Given the description of an element on the screen output the (x, y) to click on. 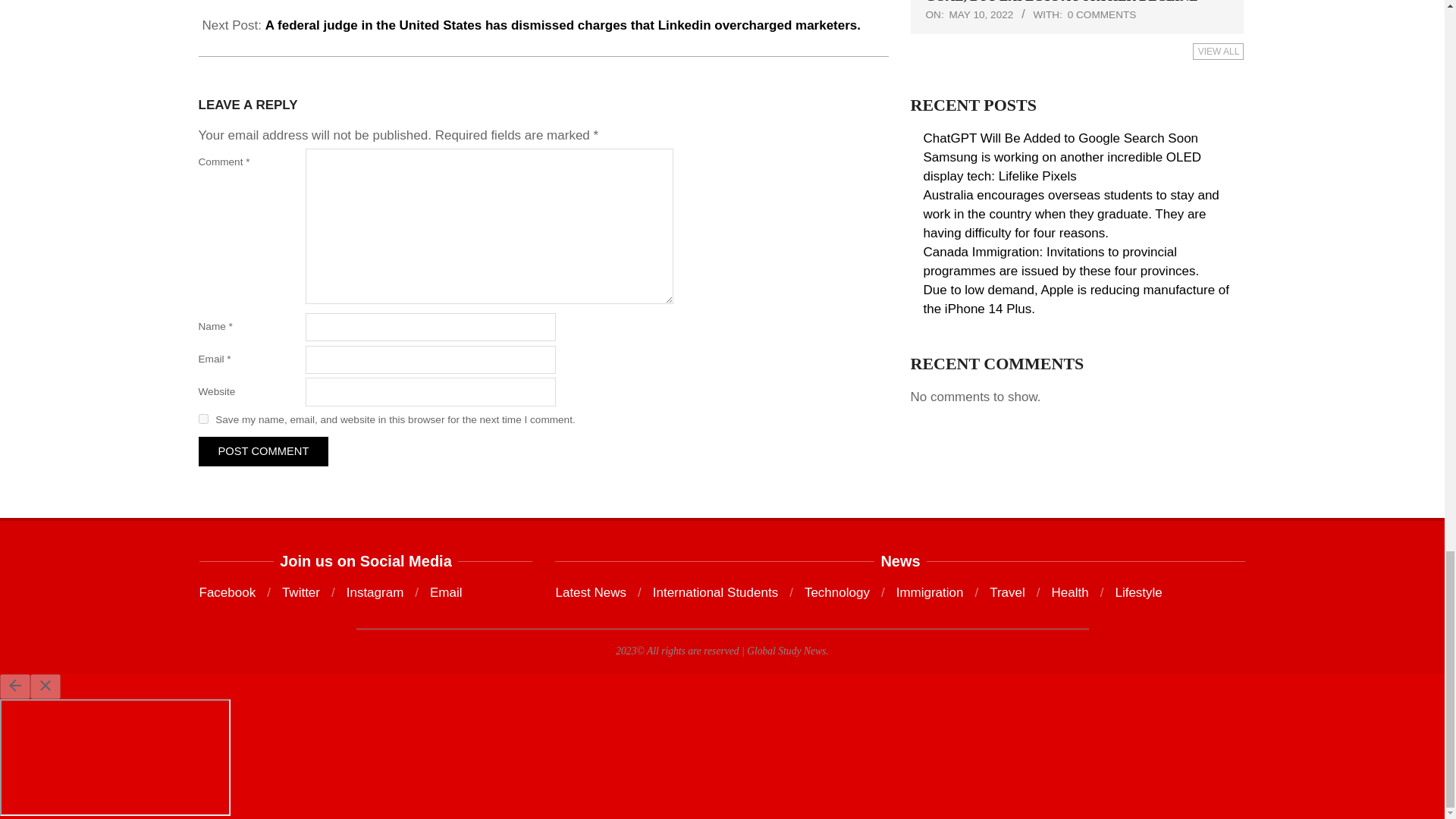
Post Comment (263, 451)
Post Comment (263, 451)
yes (203, 419)
